Given the description of an element on the screen output the (x, y) to click on. 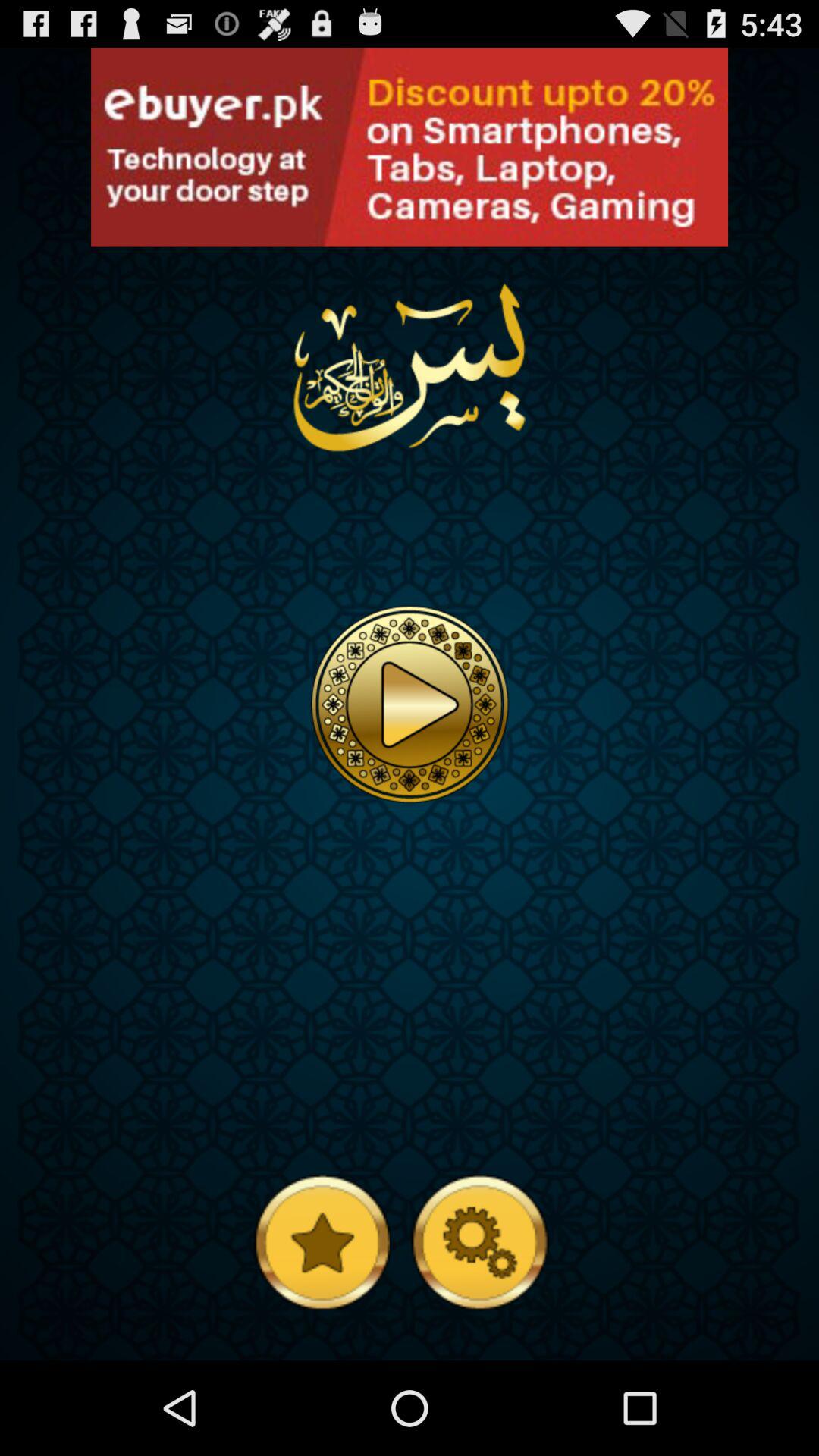
click button (106, 231)
